Given the description of an element on the screen output the (x, y) to click on. 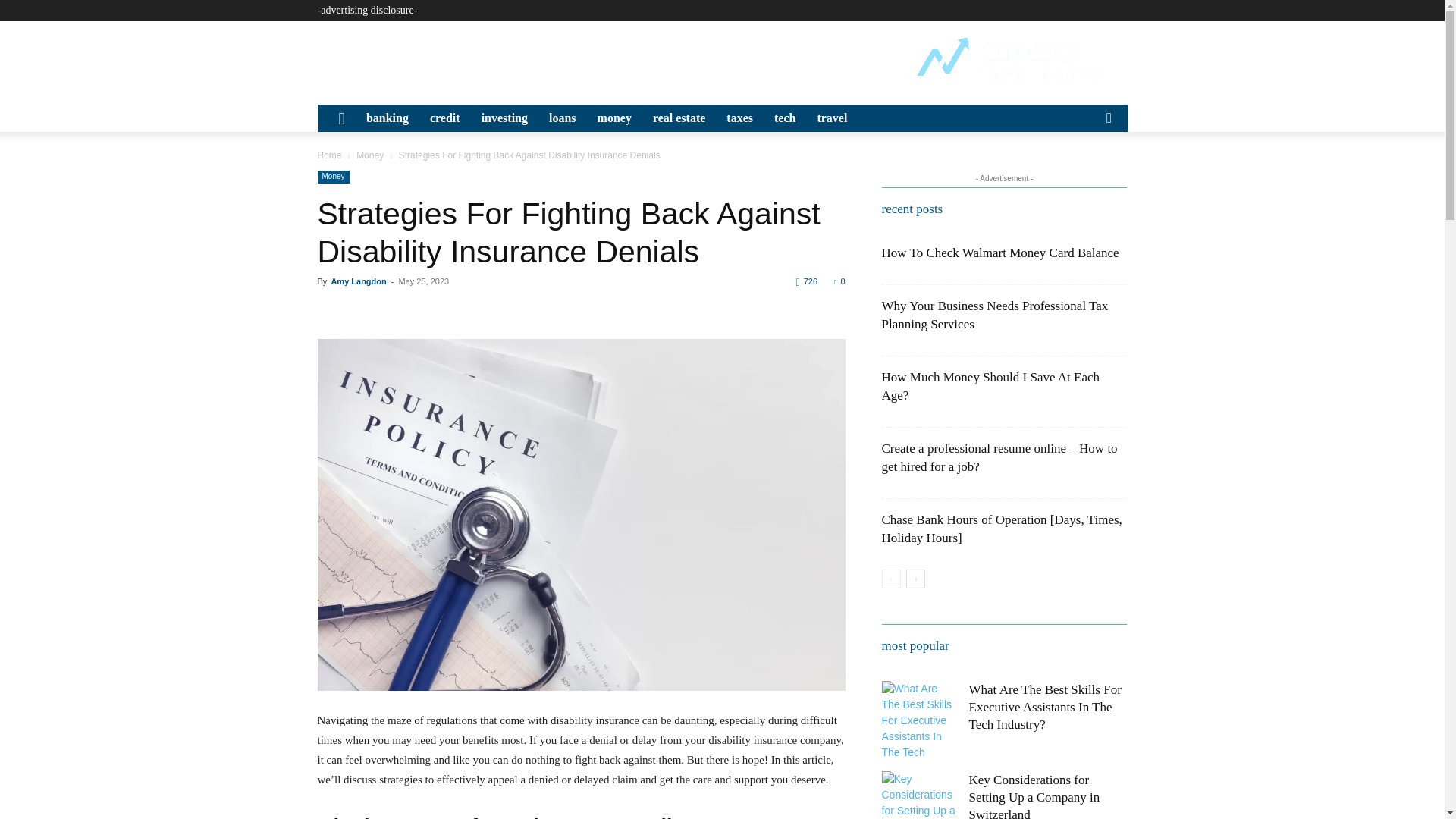
Amy Langdon (357, 280)
Search (1085, 174)
credit (444, 117)
loans (562, 117)
topFacebookLike (430, 308)
real estate (679, 117)
Money (333, 176)
-advertising disclosure- (366, 9)
travel (831, 117)
tech (784, 117)
